Given the description of an element on the screen output the (x, y) to click on. 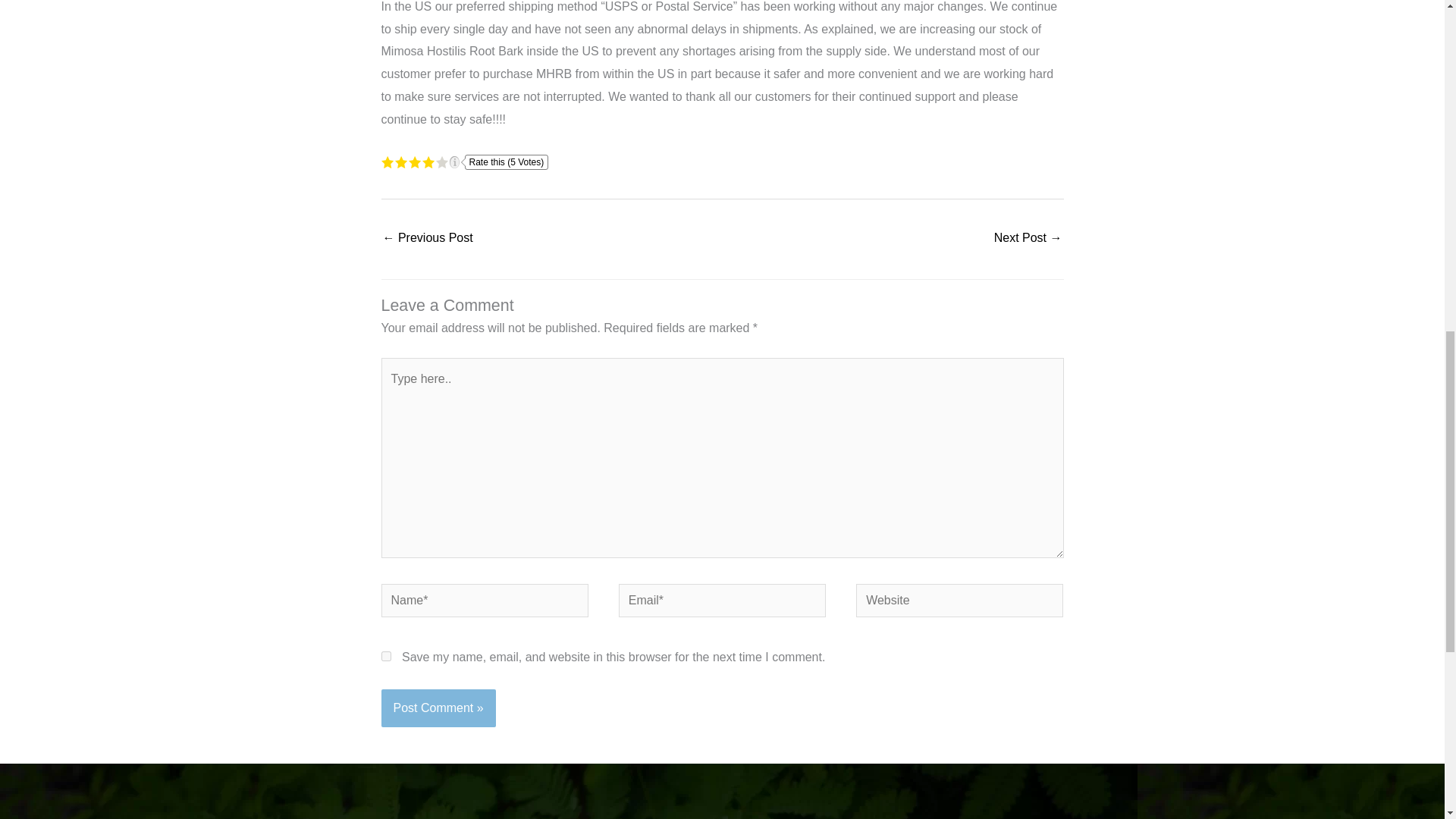
Where To Buy Mimosa Hostilis Root Bark (1028, 239)
Mimosa Hostilis Root Bark Update: May, 2019 (426, 239)
yes (385, 655)
